Given the description of an element on the screen output the (x, y) to click on. 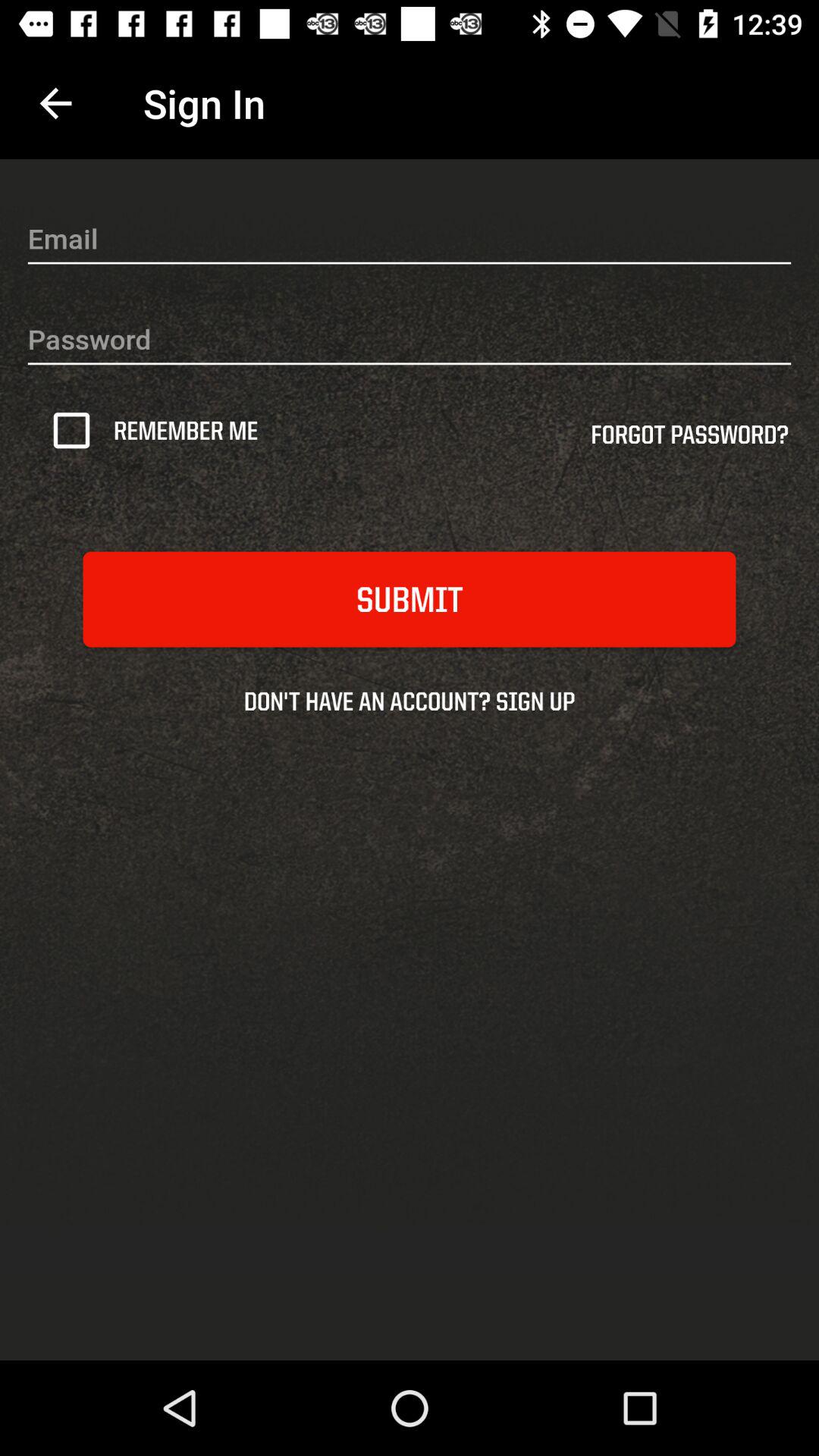
select item to the left of remember me item (76, 430)
